Given the description of an element on the screen output the (x, y) to click on. 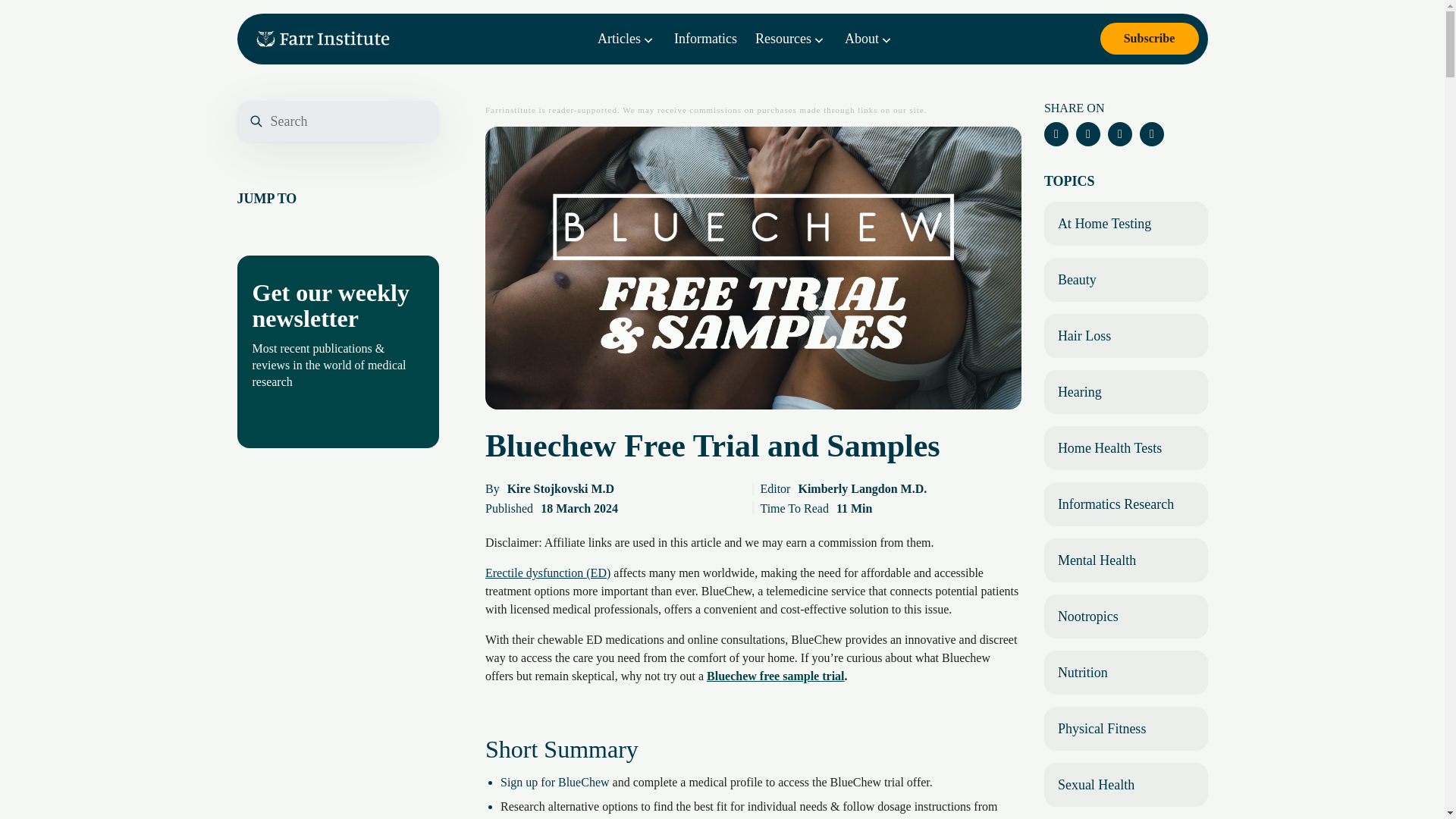
Kimberly Langdon M.D. (861, 488)
Sign up for BlueChew (555, 781)
Resources (791, 38)
About (868, 38)
Subscribe (1148, 38)
Kire Stojkovski M.D (560, 488)
Bluechew free sample trial (775, 675)
Articles (626, 38)
Informatics (705, 38)
